Given the description of an element on the screen output the (x, y) to click on. 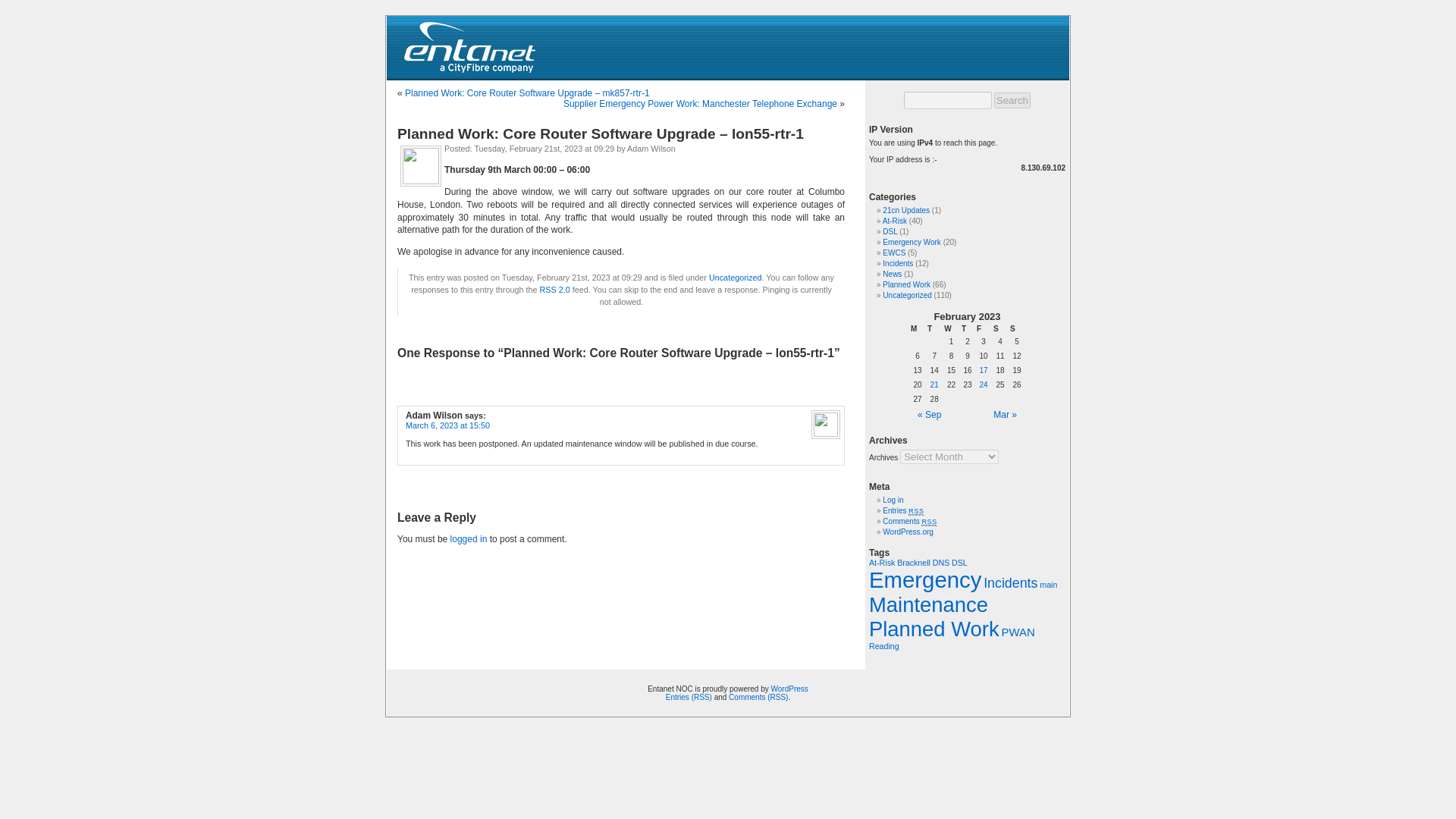
WordPress.org (907, 531)
March 6, 2023 at 15:50 (447, 424)
Sunday (1017, 328)
Really Simple Syndication (928, 521)
Saturday (999, 328)
main (1048, 583)
Log in (892, 500)
Reading (884, 645)
Emergency (925, 579)
Planned Work (933, 628)
Search (1012, 100)
Planned Work (906, 284)
Search (1012, 100)
Uncategorized (735, 276)
logged in (468, 538)
